Given the description of an element on the screen output the (x, y) to click on. 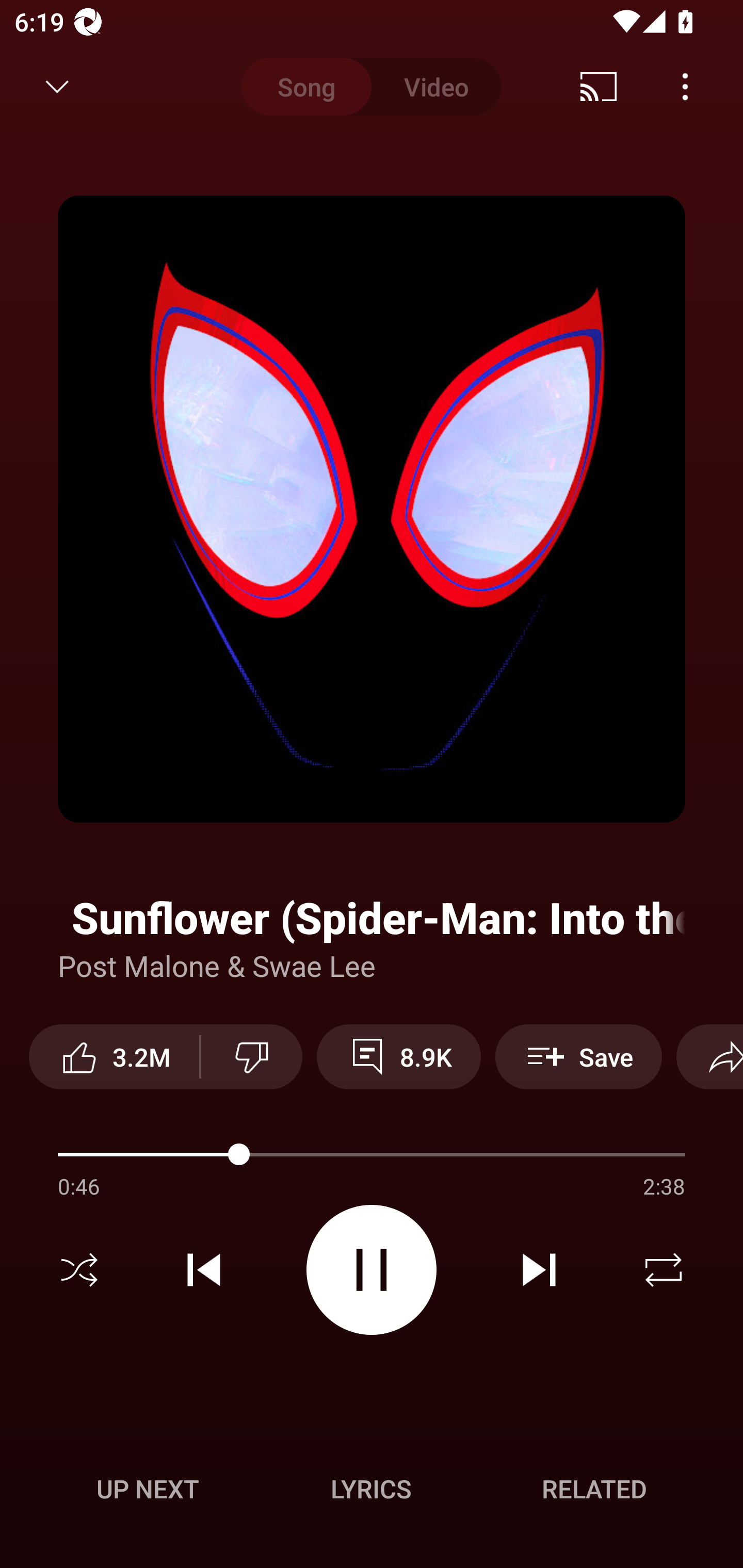
Minimize (57, 86)
Cast. Disconnected (598, 86)
Menu (684, 86)
Dislike (251, 1056)
8.9K View 8,905 comments (398, 1056)
Save Save to playlist (578, 1056)
Share (709, 1056)
Pause video (371, 1269)
Shuffle off (79, 1269)
Previous track (203, 1269)
Next track (538, 1269)
Repeat off (663, 1269)
Up next UP NEXT Lyrics LYRICS Related RELATED (371, 1491)
Lyrics LYRICS (370, 1488)
Related RELATED (594, 1488)
